Given the description of an element on the screen output the (x, y) to click on. 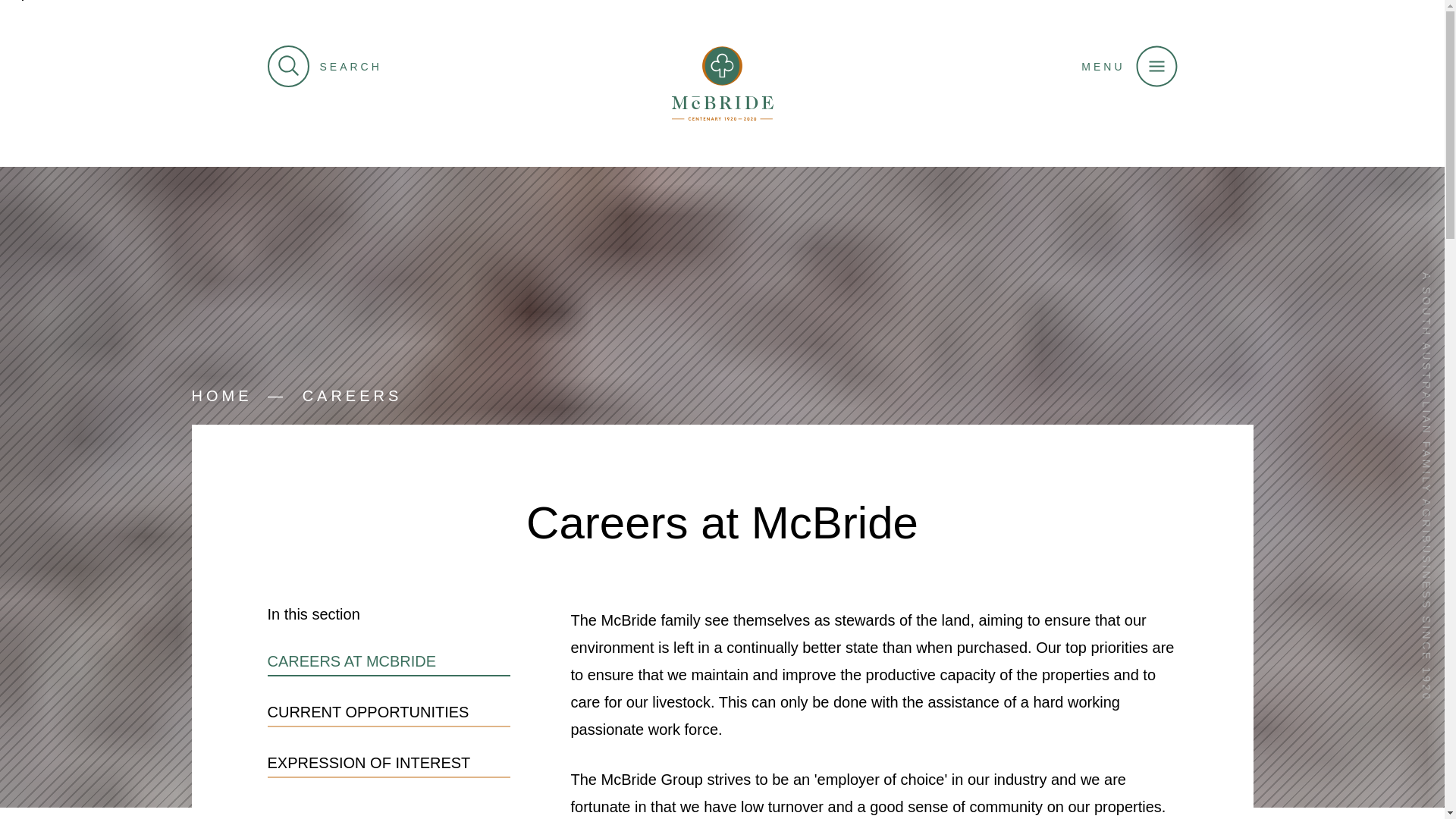
CURRENT OPPORTUNITIES Element type: text (387, 713)
CAREERS Element type: text (352, 396)
CAREERS AT MCBRIDE Element type: text (387, 662)
SEARCH Element type: text (323, 66)
EXPRESSION OF INTEREST Element type: text (387, 763)
HOME Element type: text (221, 396)
MENU Element type: text (1128, 66)
CLOSE Element type: text (1360, 52)
